Given the description of an element on the screen output the (x, y) to click on. 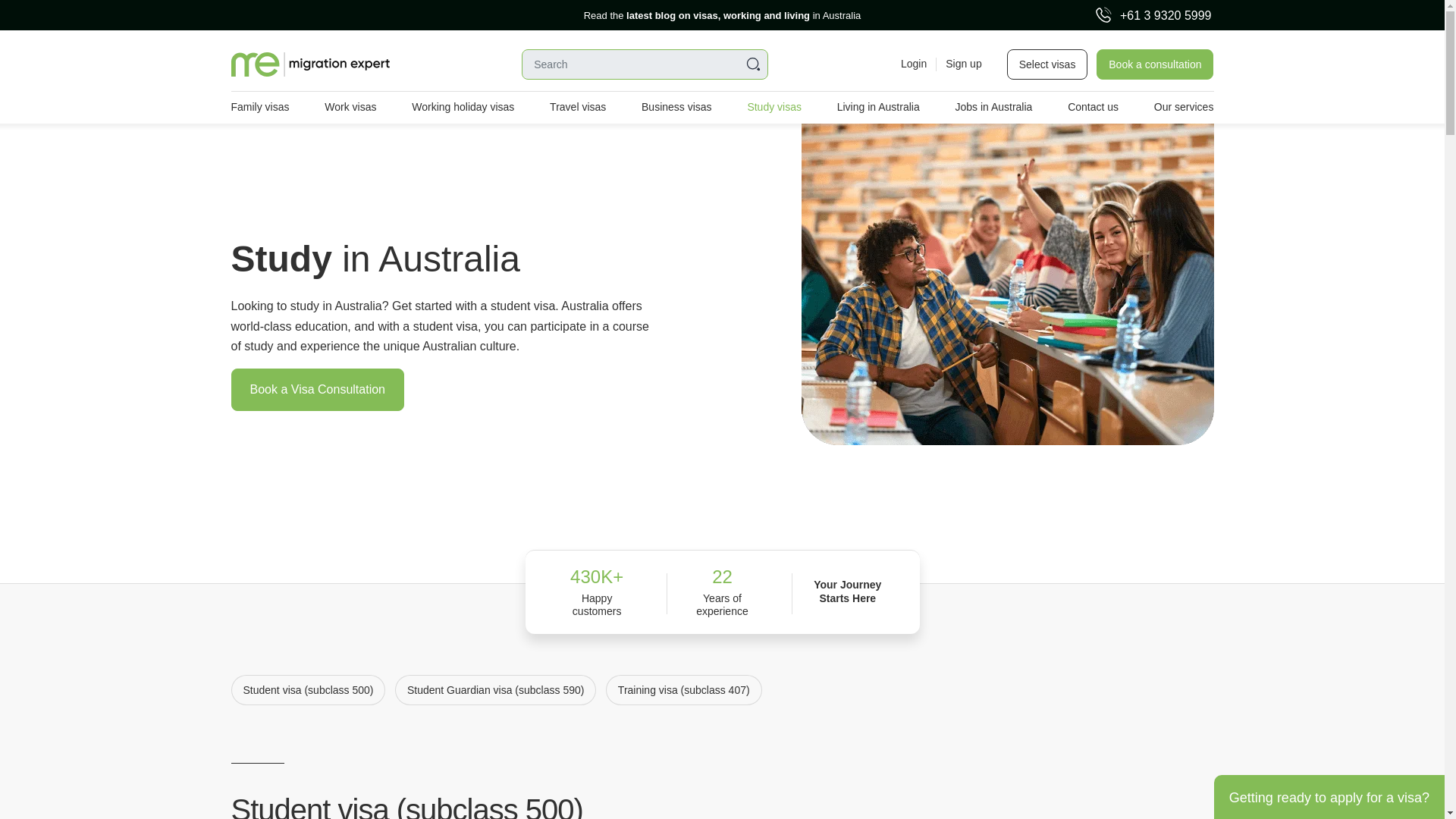
Login (913, 64)
Select visas (1047, 64)
Sign up (958, 64)
Free Eligibility Assessment (115, 15)
Book a consultation (1154, 64)
Family visas (259, 107)
